Given the description of an element on the screen output the (x, y) to click on. 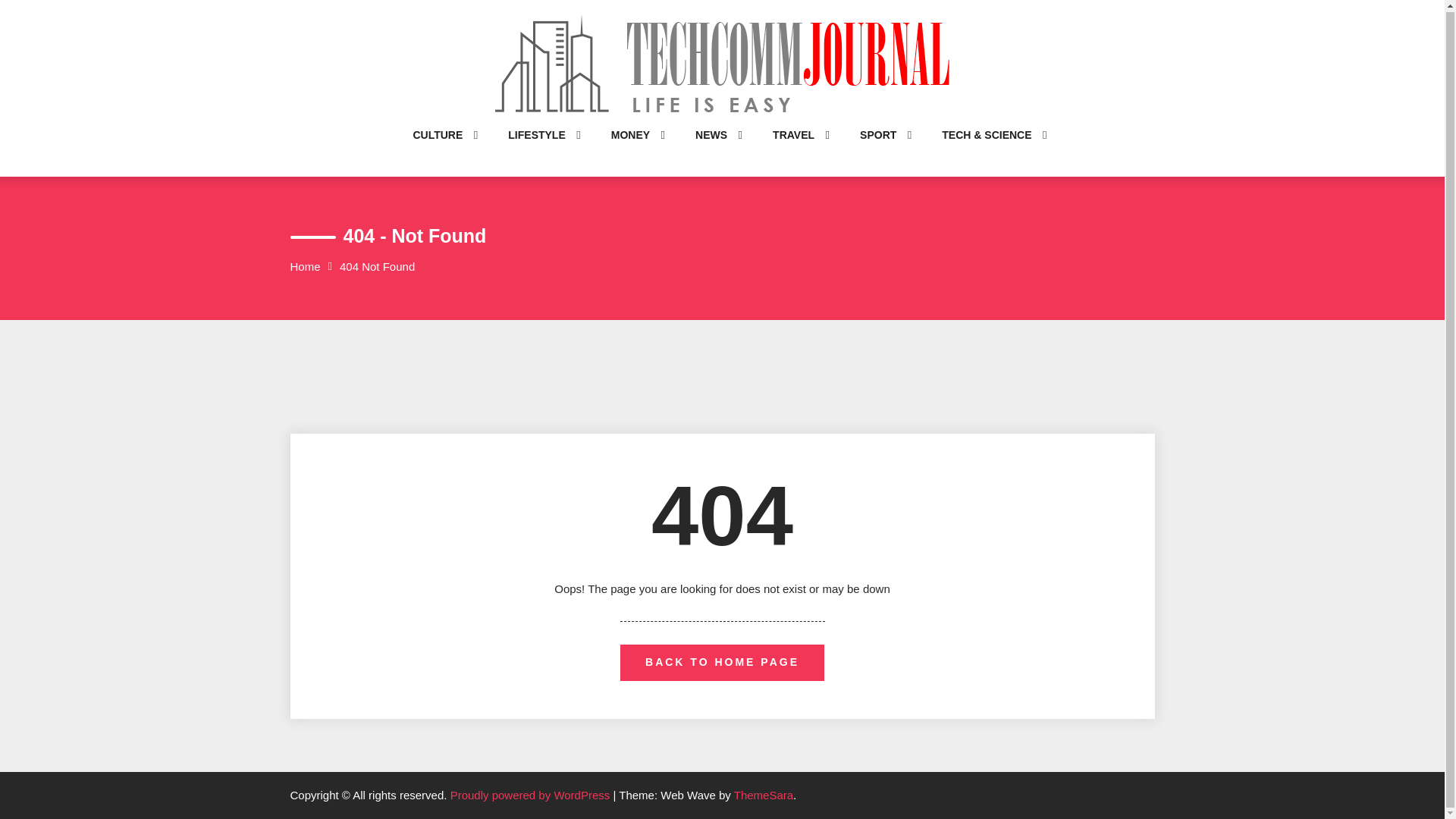
MONEY (630, 149)
LIFESTYLE (536, 149)
CULTURE (437, 149)
NEWS (710, 149)
